Given the description of an element on the screen output the (x, y) to click on. 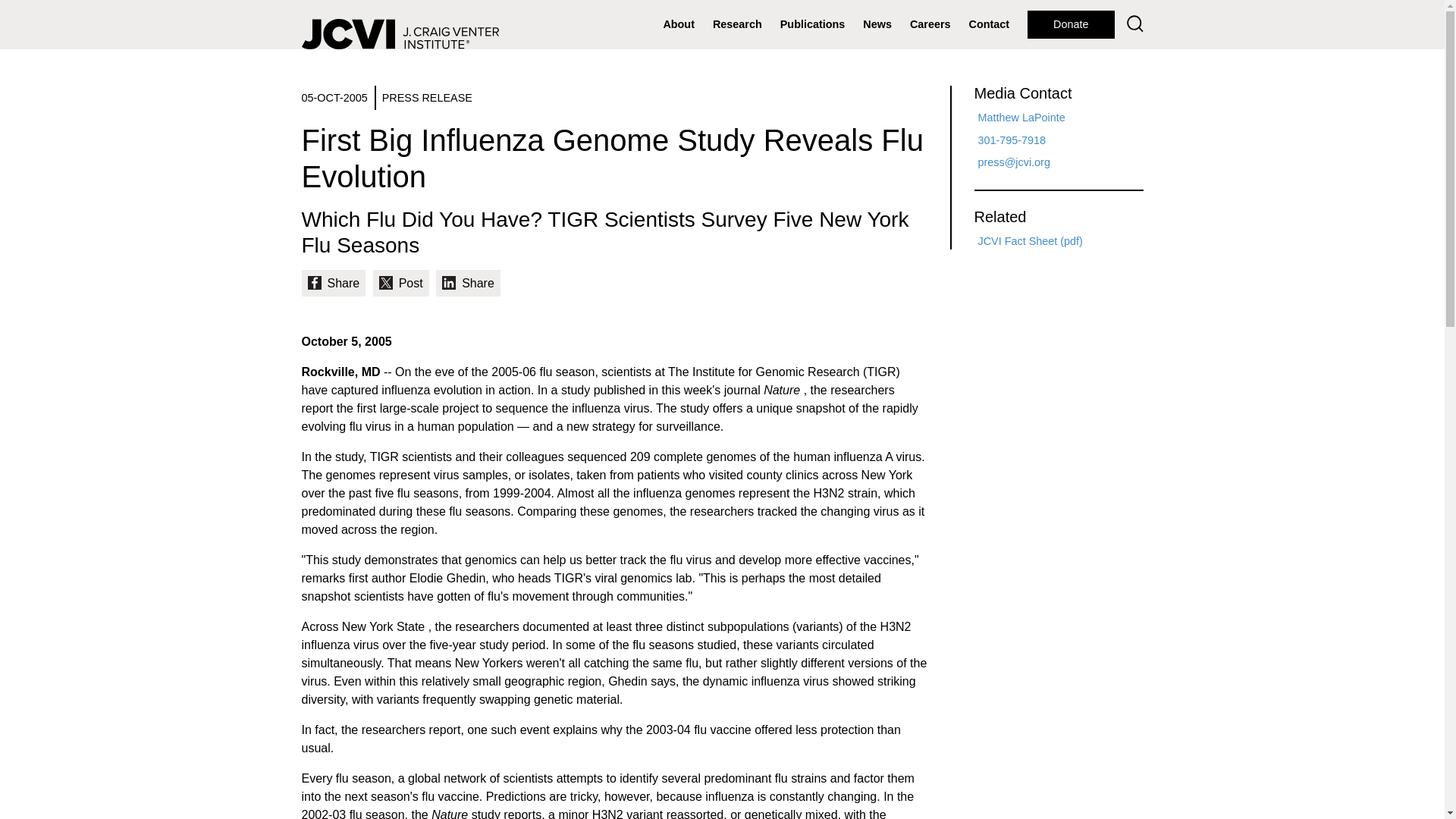
Contact (989, 24)
About (678, 24)
Research (737, 24)
301-795-7918 (1012, 140)
Matthew LaPointe (1021, 117)
News (877, 24)
Careers (930, 24)
Donate (1070, 24)
Publications (812, 24)
